Given the description of an element on the screen output the (x, y) to click on. 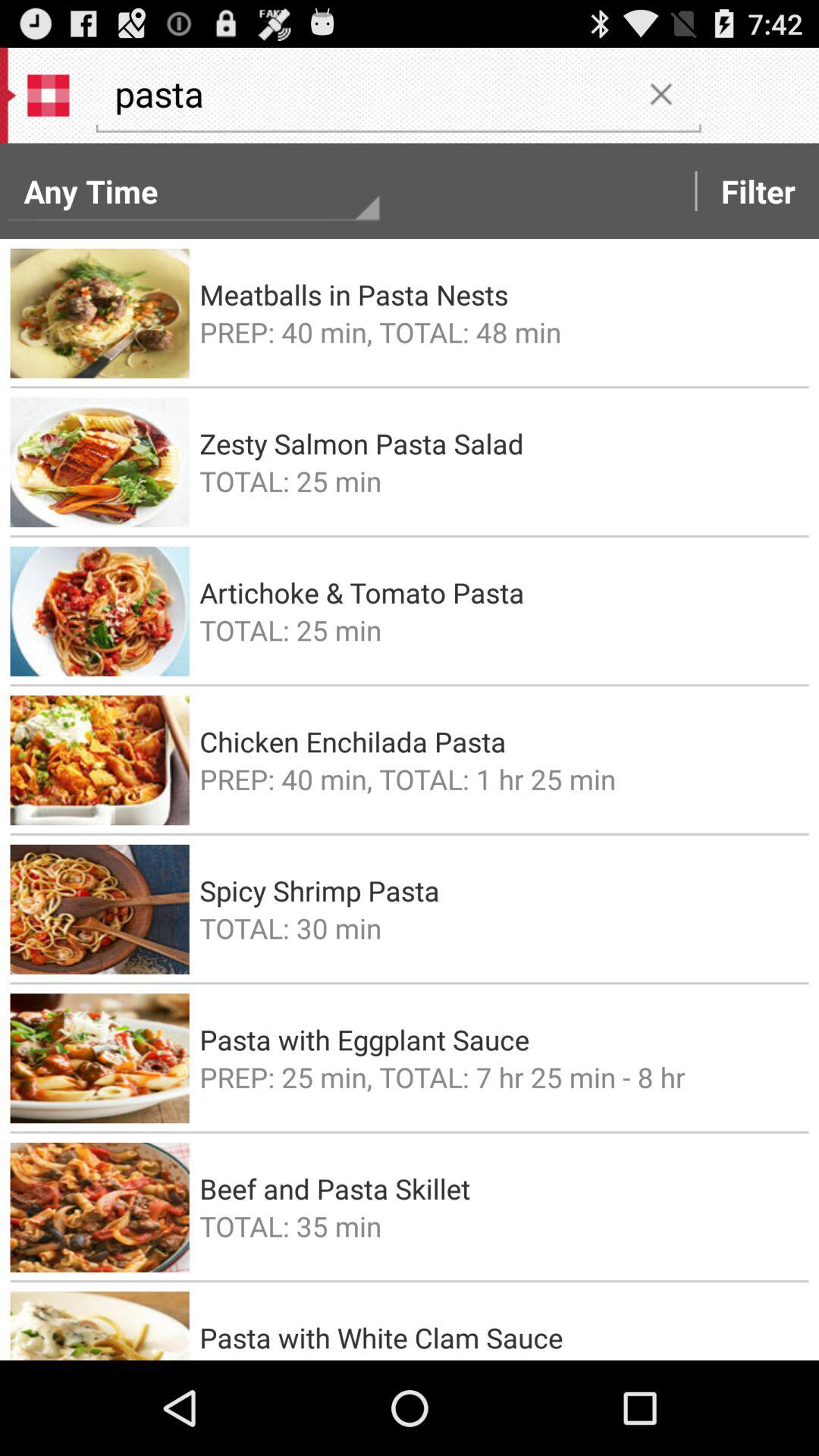
flip until artichoke & tomato pasta icon (498, 592)
